Given the description of an element on the screen output the (x, y) to click on. 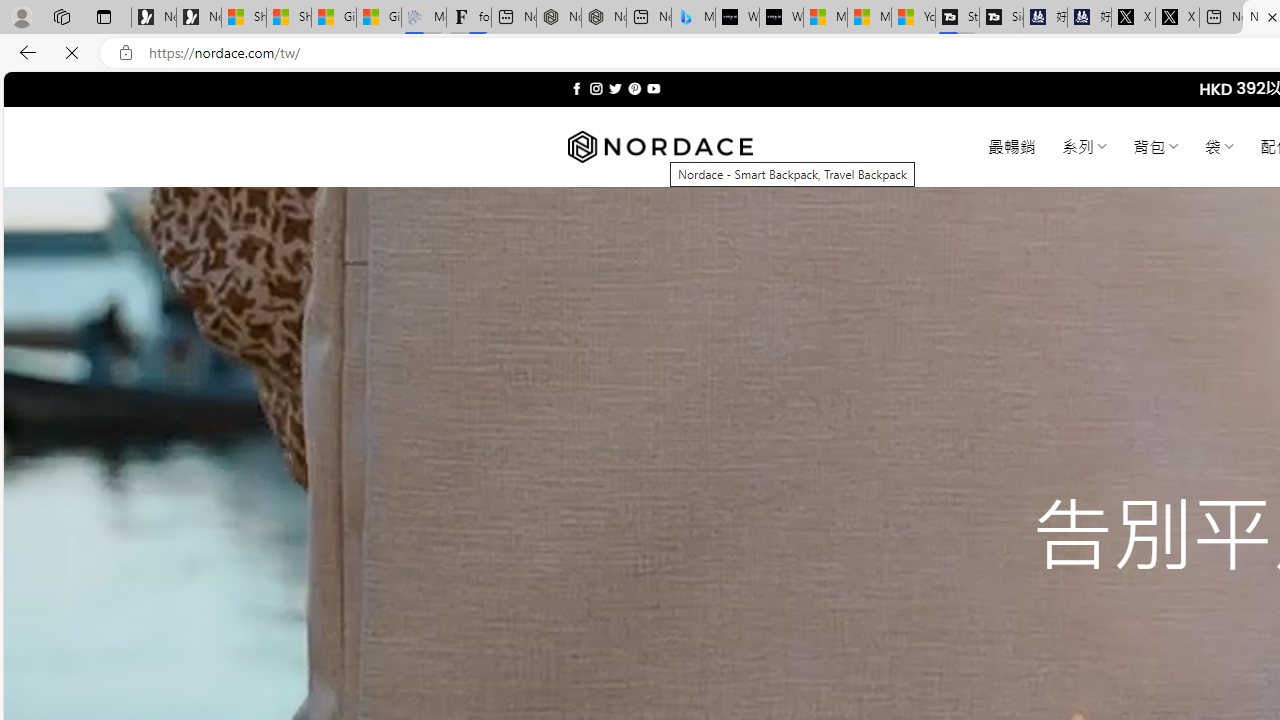
Streaming Coverage | T3 (957, 17)
Microsoft Bing Travel - Shangri-La Hotel Bangkok (693, 17)
Shanghai, China weather forecast | Microsoft Weather (289, 17)
Nordace - #1 Japanese Best-Seller - Siena Smart Backpack (603, 17)
